Given the description of an element on the screen output the (x, y) to click on. 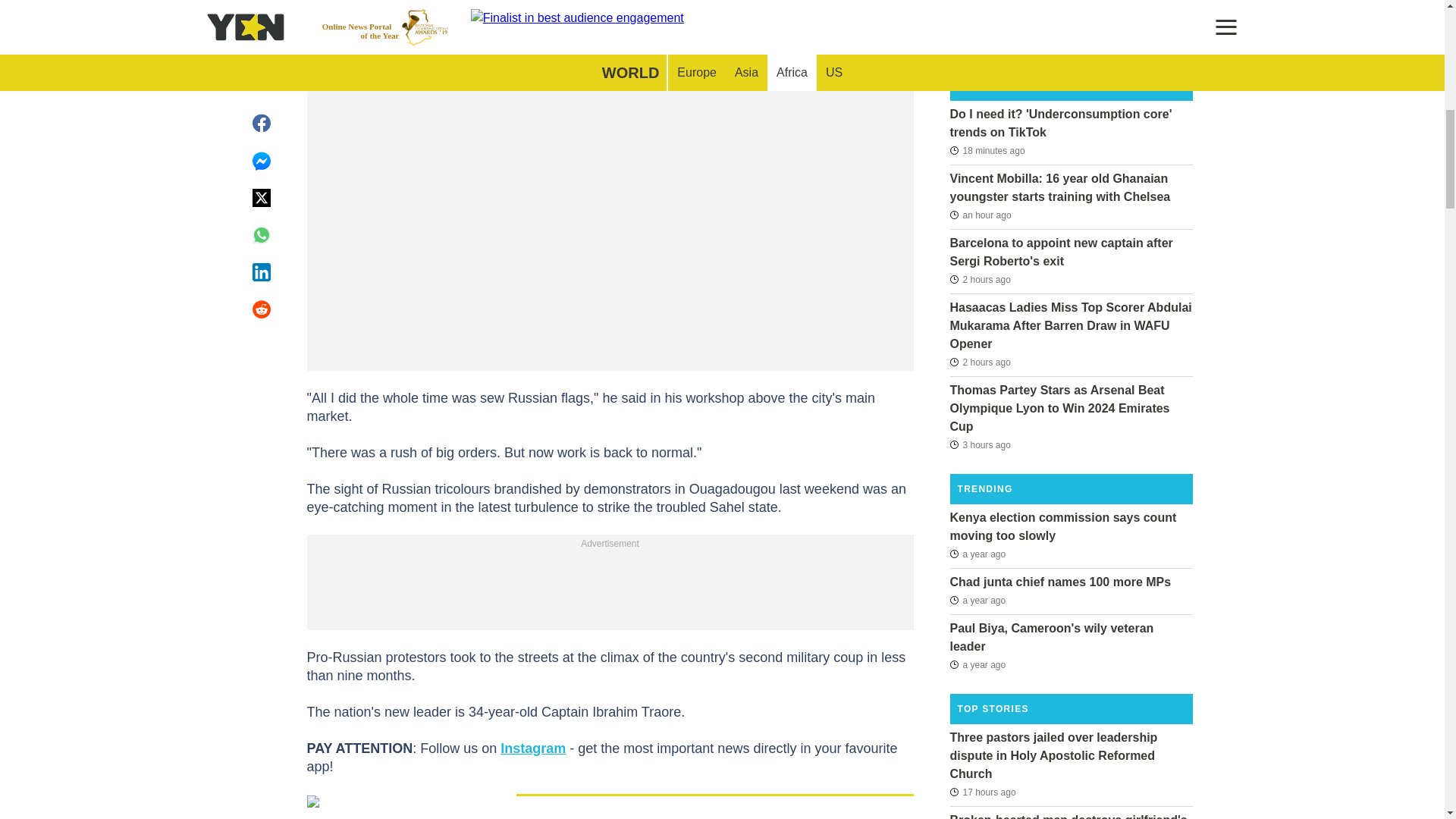
2024-08-11T23:50:29Z (979, 215)
Instagram - Yen (533, 748)
2024-08-12T01:30:11Z (987, 149)
2024-08-11T21:59:40Z (979, 443)
2022-11-07T15:09:05Z (977, 600)
2022-08-12T12:12:09Z (977, 553)
2024-08-11T22:54:00Z (979, 279)
2024-08-11T22:51:39Z (979, 361)
2022-11-04T10:46:07Z (977, 664)
